Given the description of an element on the screen output the (x, y) to click on. 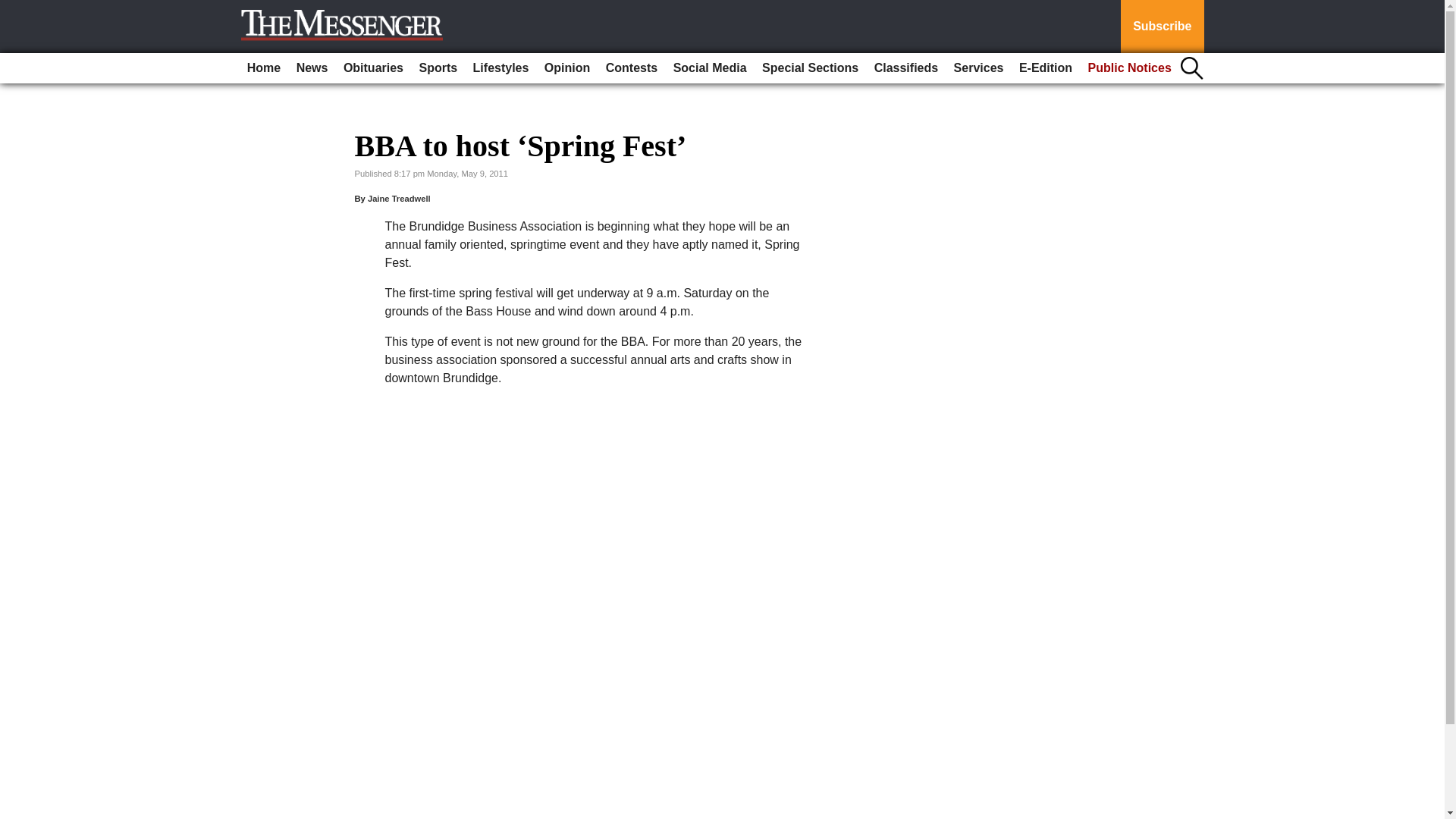
Sports (437, 68)
Special Sections (809, 68)
Contests (631, 68)
Subscribe (1162, 26)
News (311, 68)
E-Edition (1045, 68)
Classifieds (905, 68)
Opinion (566, 68)
Lifestyles (501, 68)
Services (978, 68)
Public Notices (1129, 68)
Home (263, 68)
Obituaries (373, 68)
Social Media (709, 68)
